Given the description of an element on the screen output the (x, y) to click on. 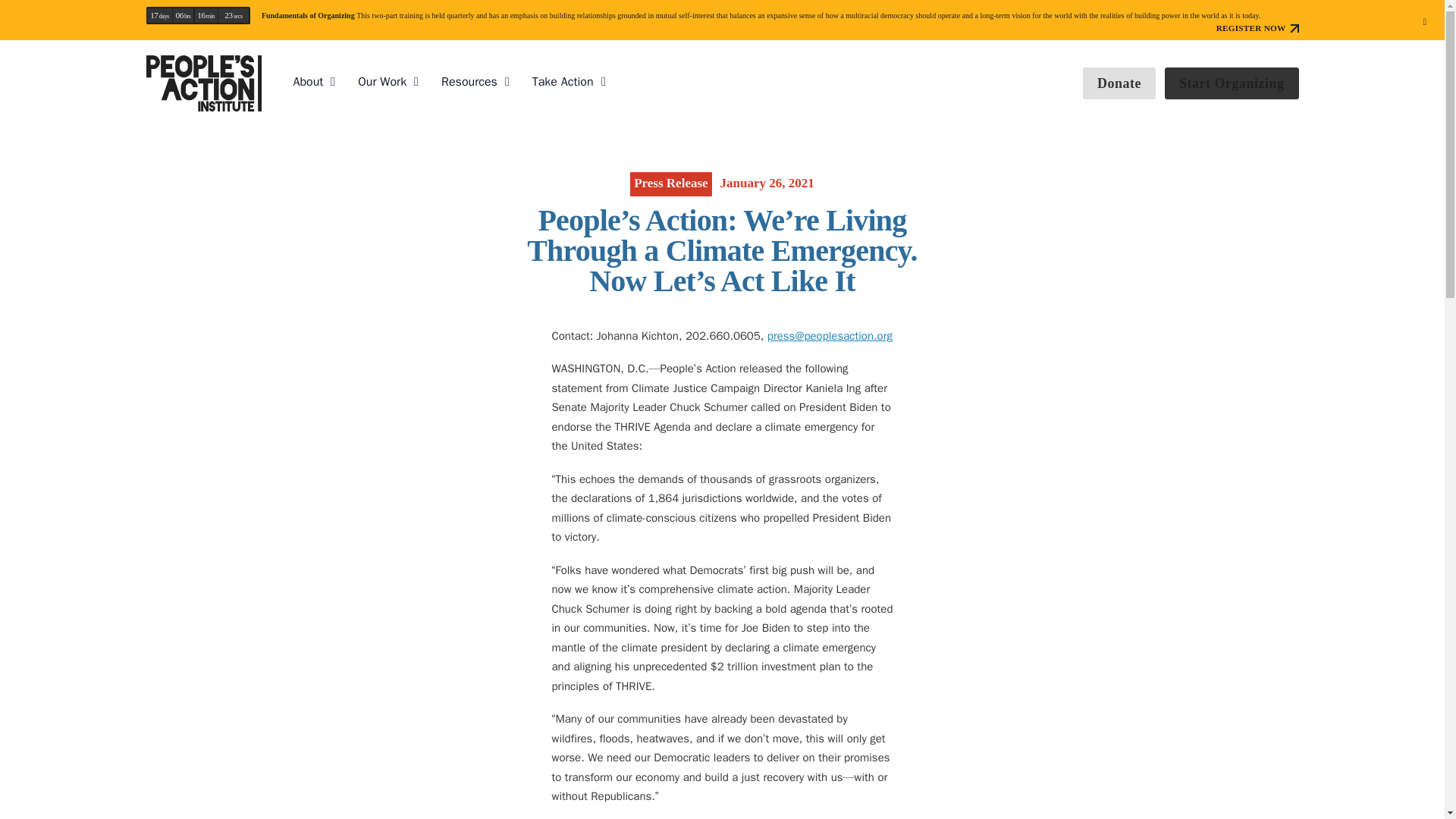
Resources (469, 81)
Our Work (382, 81)
REGISTER NOW (1256, 28)
About (307, 81)
Take Action (563, 81)
